Given the description of an element on the screen output the (x, y) to click on. 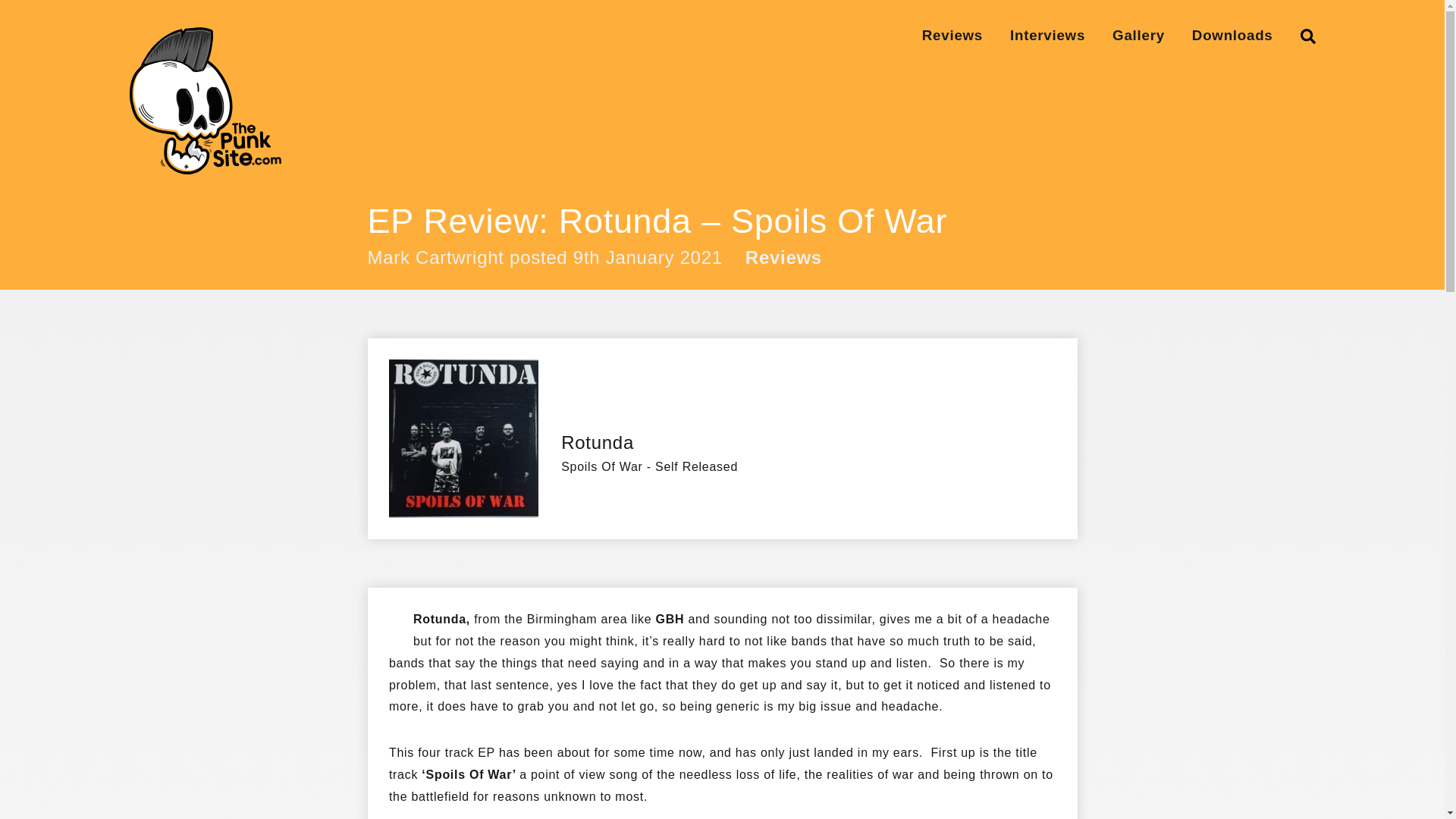
Reviews (783, 258)
Gallery (1138, 35)
Interviews (1047, 35)
Reviews (951, 35)
ThePunkSite.com home (205, 100)
Downloads (1232, 35)
